Given the description of an element on the screen output the (x, y) to click on. 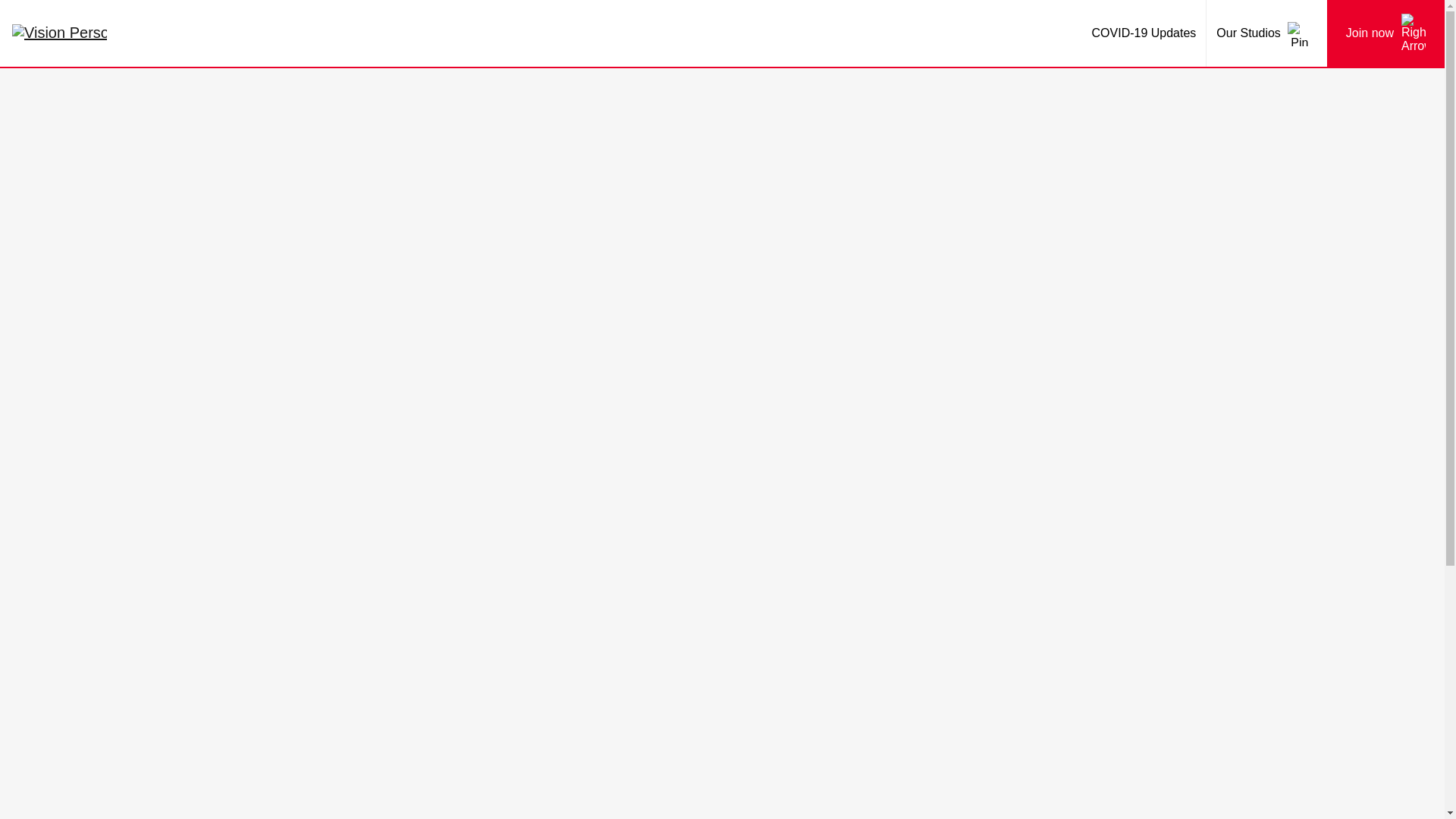
COVID-19 Updates (1144, 33)
Our Studios (1266, 33)
Our Studios (1266, 33)
COVID-19 Updates (1144, 33)
Join now (1385, 33)
